Given the description of an element on the screen output the (x, y) to click on. 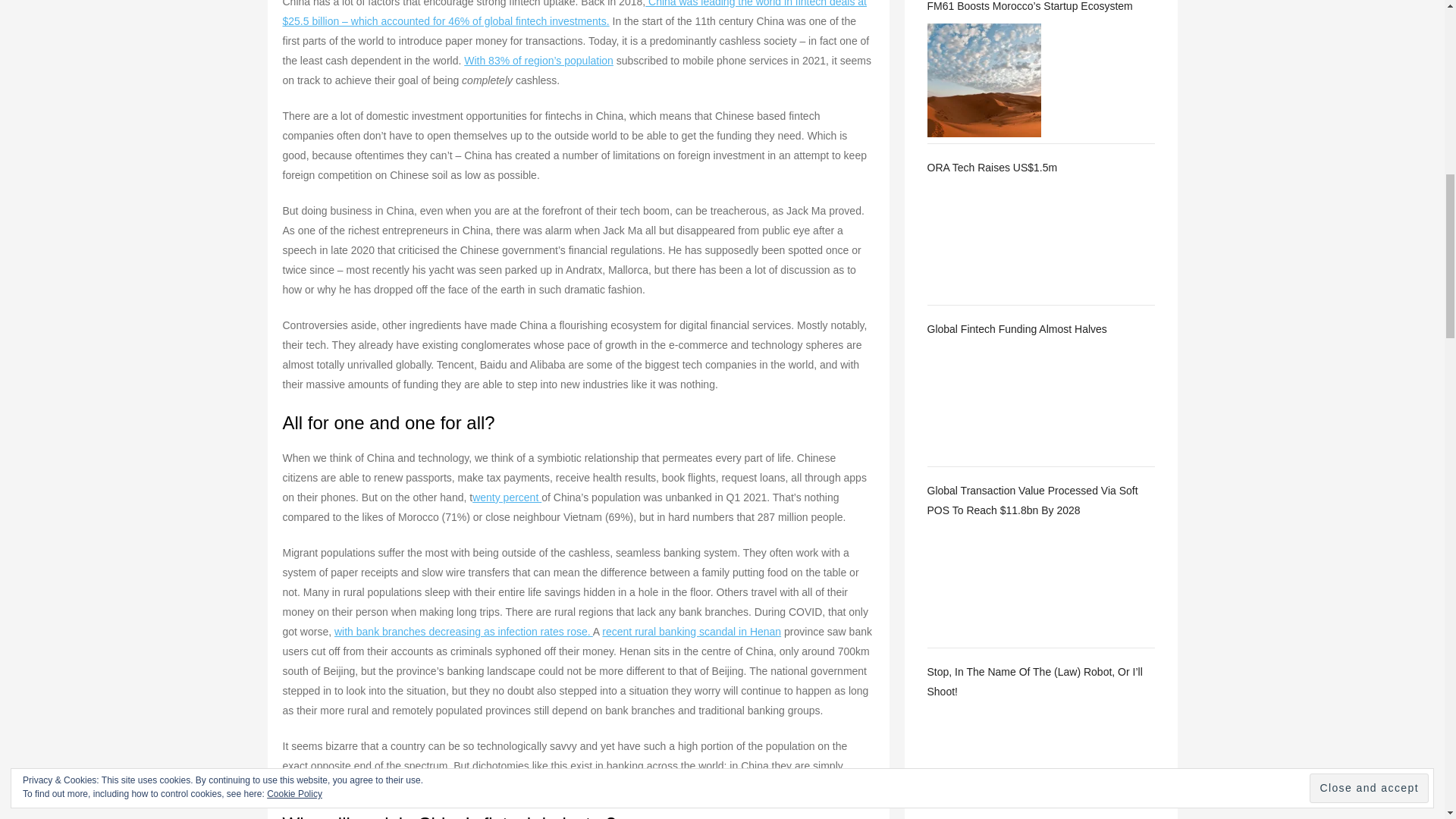
Global fintech funding almost halves (983, 403)
recent rural banking scandal in Henan (691, 630)
wenty percent (506, 497)
with bank branches decreasing as infection rates rose. (463, 630)
